Given the description of an element on the screen output the (x, y) to click on. 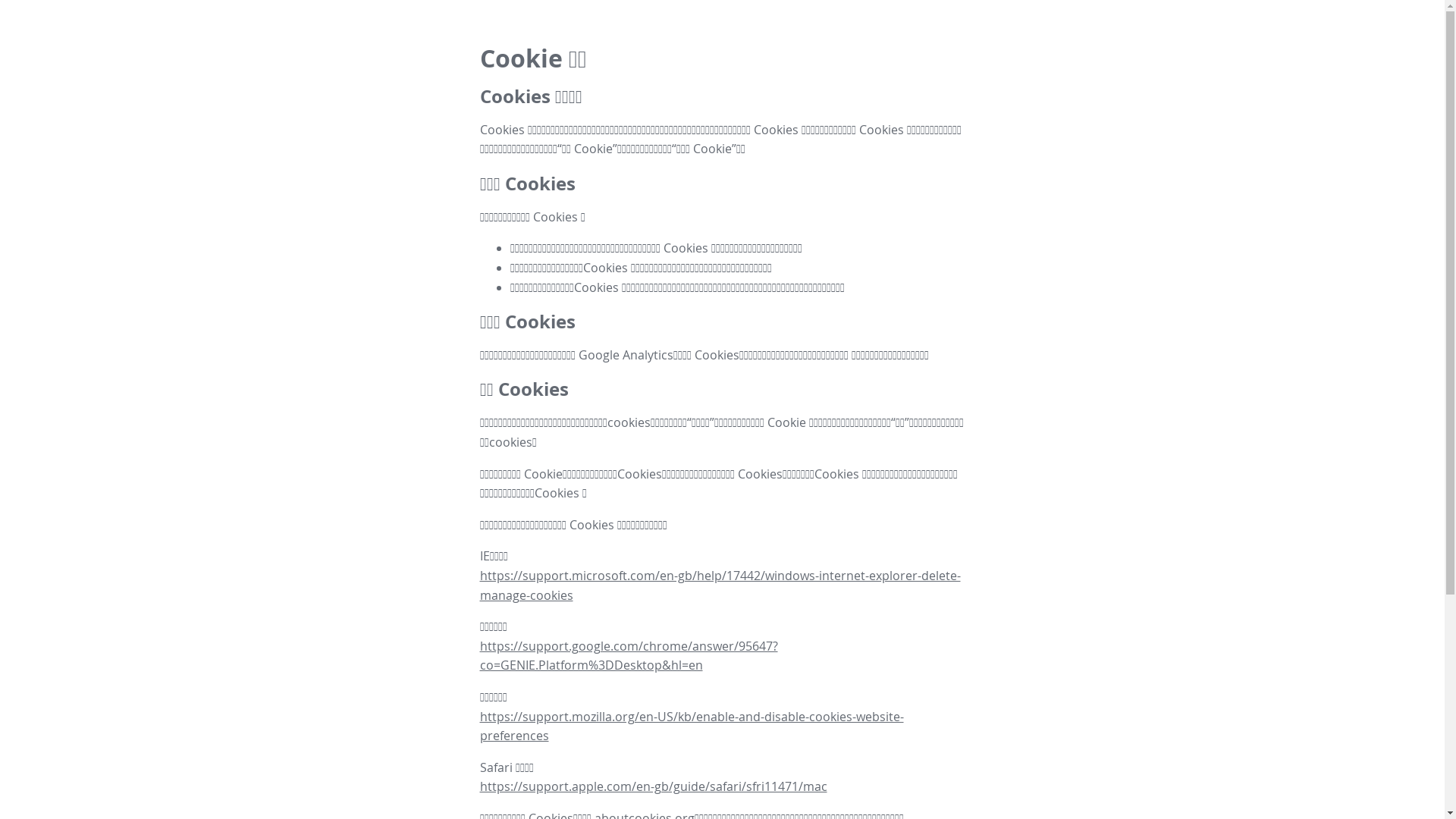
https://support.apple.com/en-gb/guide/safari/sfri11471/mac Element type: text (652, 786)
